Given the description of an element on the screen output the (x, y) to click on. 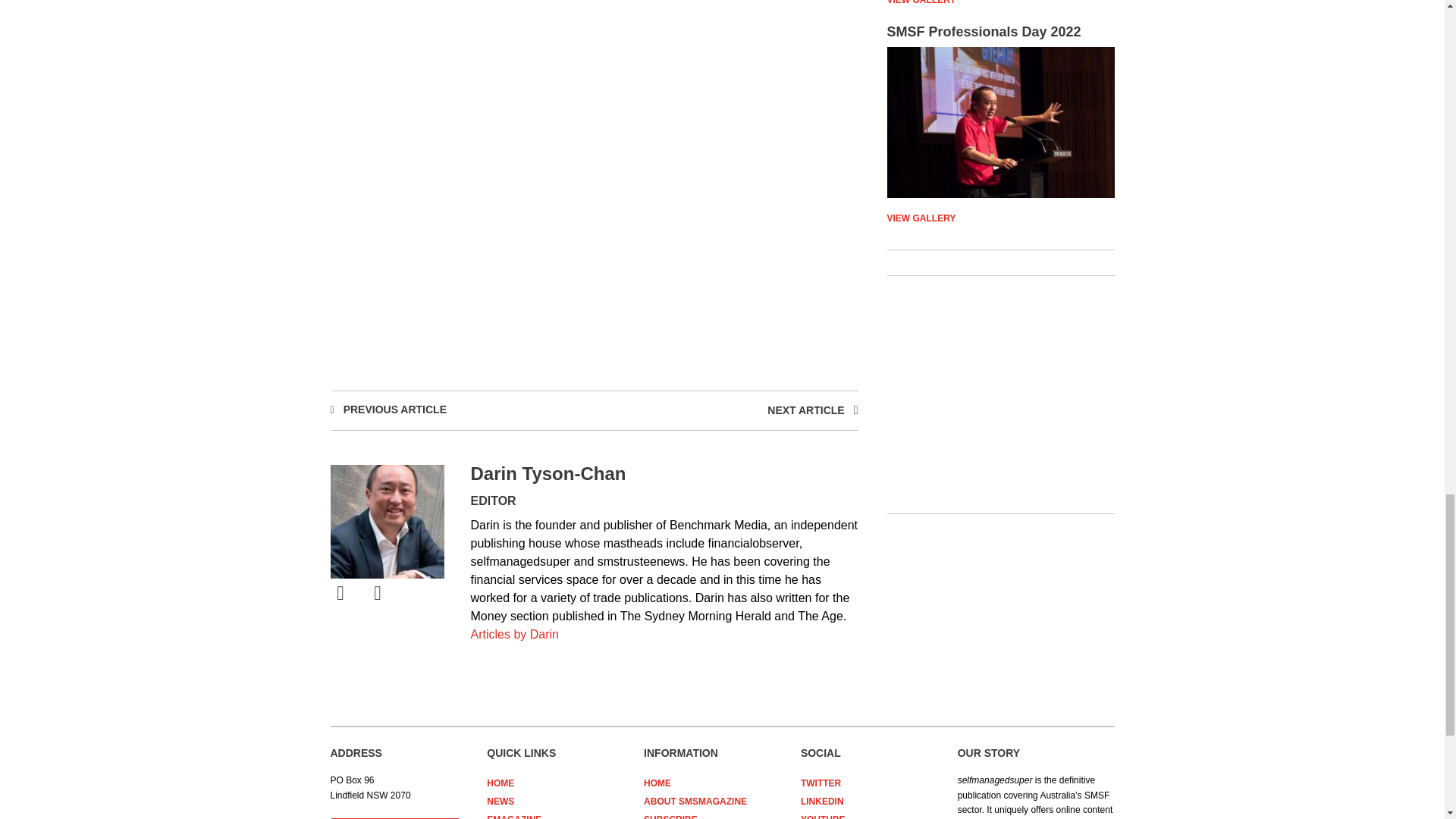
PREVIOUS ARTICLE (394, 409)
Articles by Darin (1000, 2)
NEXT ARTICLE (513, 634)
